Given the description of an element on the screen output the (x, y) to click on. 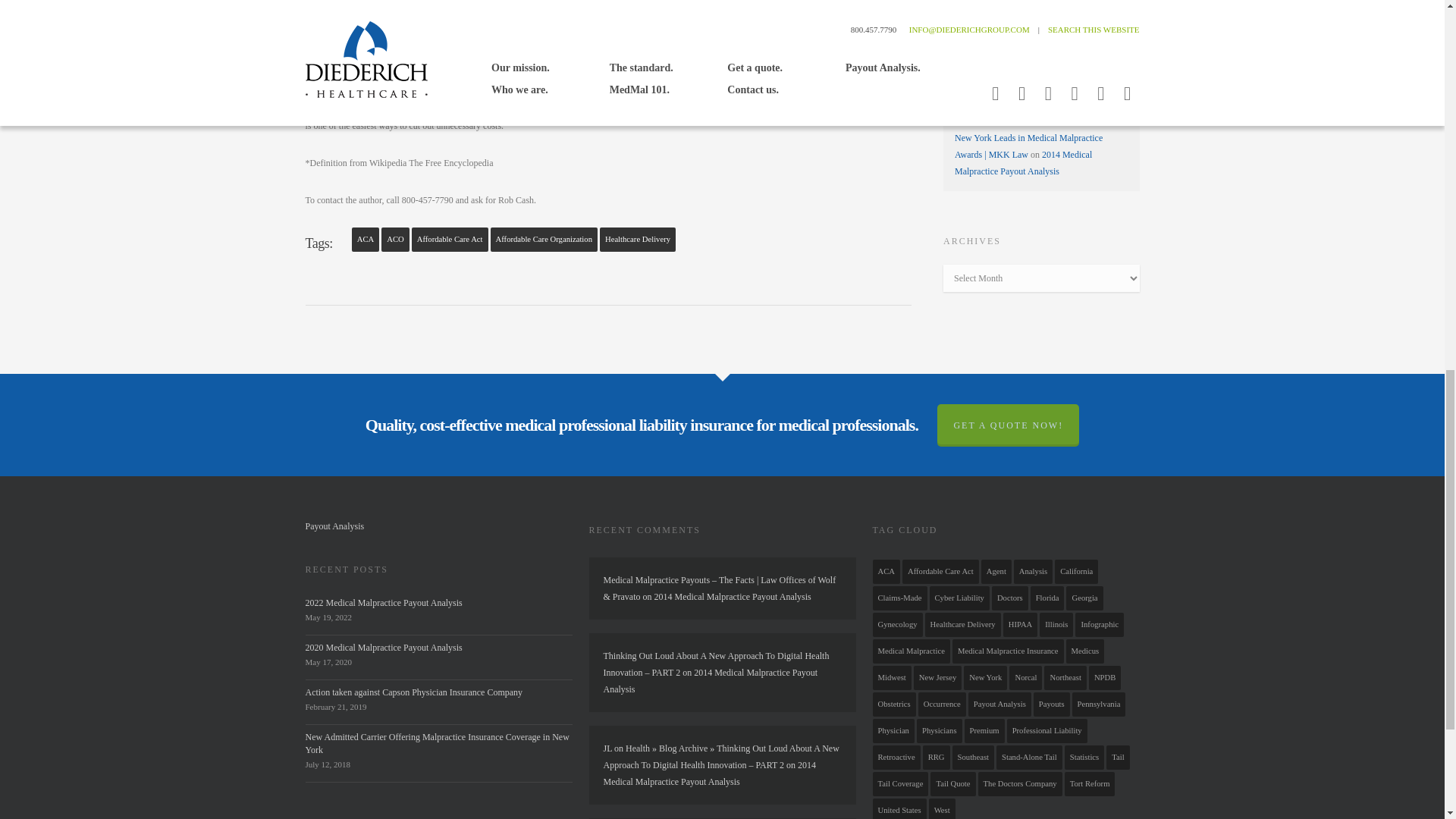
Affordable Care Act (449, 239)
Affordable Care Organization (543, 239)
ACO (395, 239)
quick quote form (627, 91)
Action taken against Capson Physician Insurance Company (413, 692)
Healthcare Delivery (637, 239)
ACA (366, 239)
2022 Medical Malpractice Payout Analysis (382, 602)
2020 Medical Malpractice Payout Analysis (382, 647)
Get A Quote (627, 91)
